Given the description of an element on the screen output the (x, y) to click on. 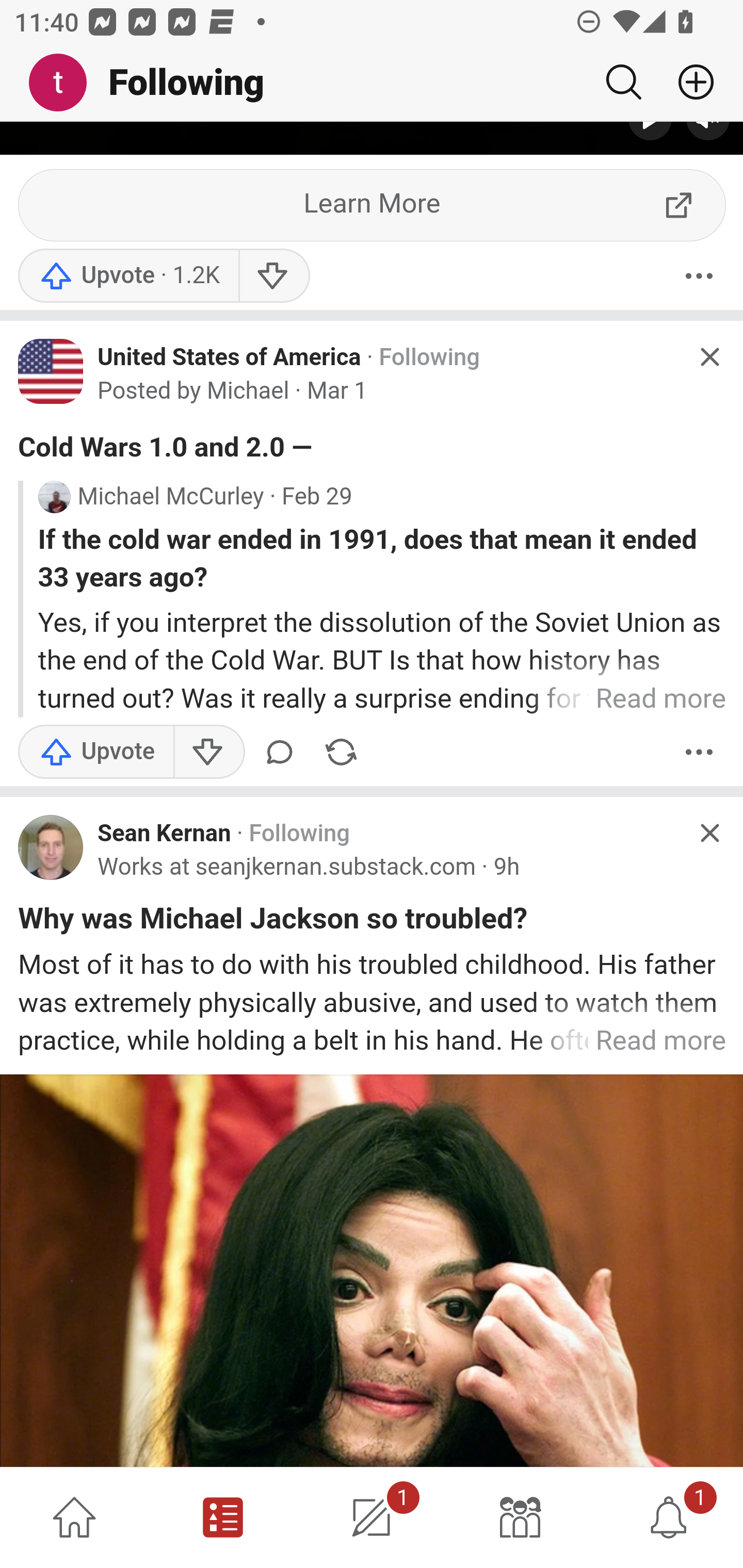
Me (64, 83)
Search (623, 82)
Add (688, 82)
Learn More ExternalLink (372, 207)
Upvote (127, 277)
Downvote (273, 277)
More (699, 277)
Hide (709, 357)
Icon for United States of America (50, 373)
United States of America (229, 358)
Following (428, 358)
Profile photo for Michael McCurley (54, 498)
Upvote (95, 753)
Downvote (208, 753)
Comment (283, 753)
Share (341, 753)
More (699, 753)
Hide (709, 833)
Profile photo for Sean Kernan (50, 848)
Sean Kernan (164, 834)
Following (299, 834)
1 (371, 1517)
1 (668, 1517)
